Given the description of an element on the screen output the (x, y) to click on. 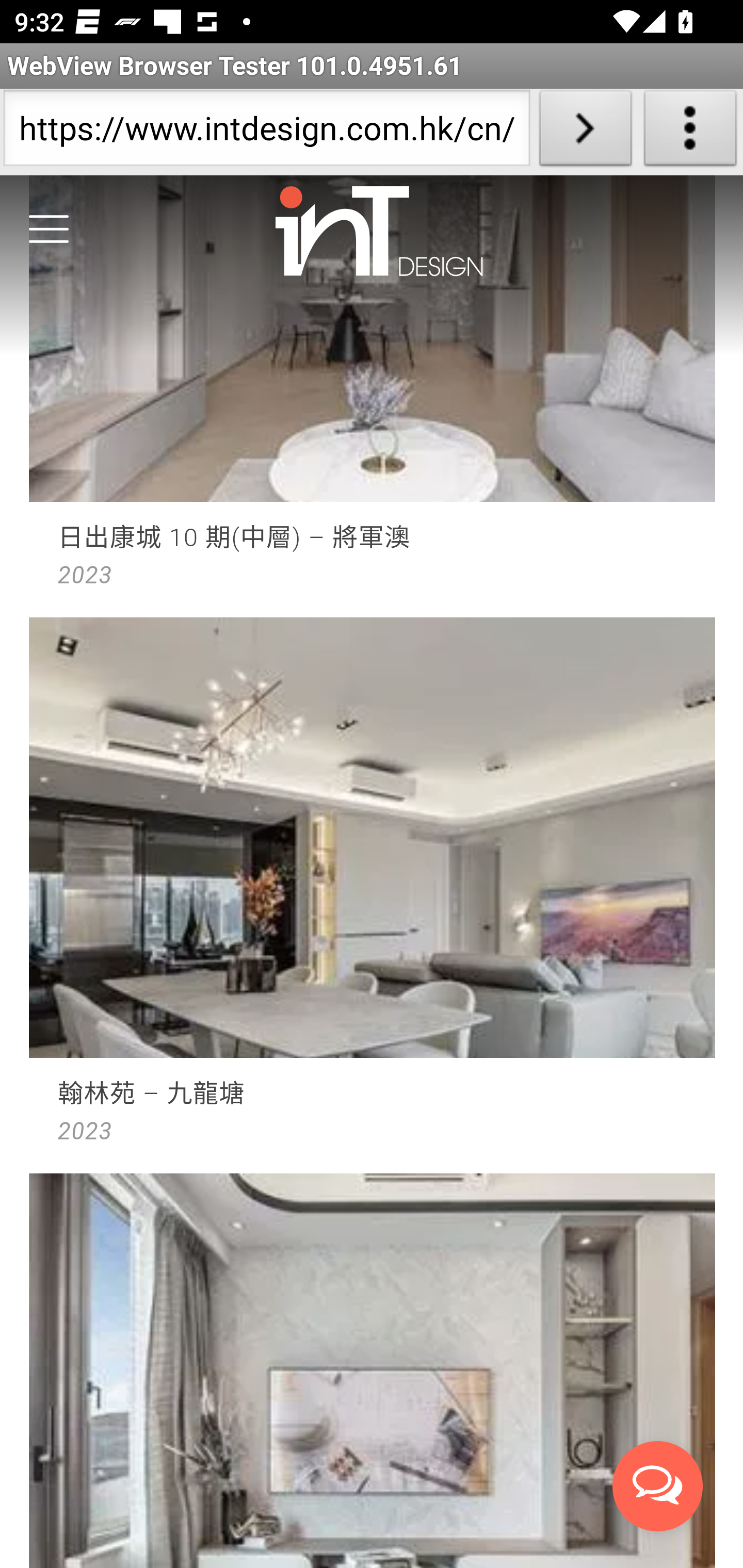
Load URL (585, 132)
About WebView (690, 132)
lohas-park-10-mid (372, 393)
university-court (372, 892)
lohas-park-10 (372, 1369)
Open messengers list (657, 1487)
